Given the description of an element on the screen output the (x, y) to click on. 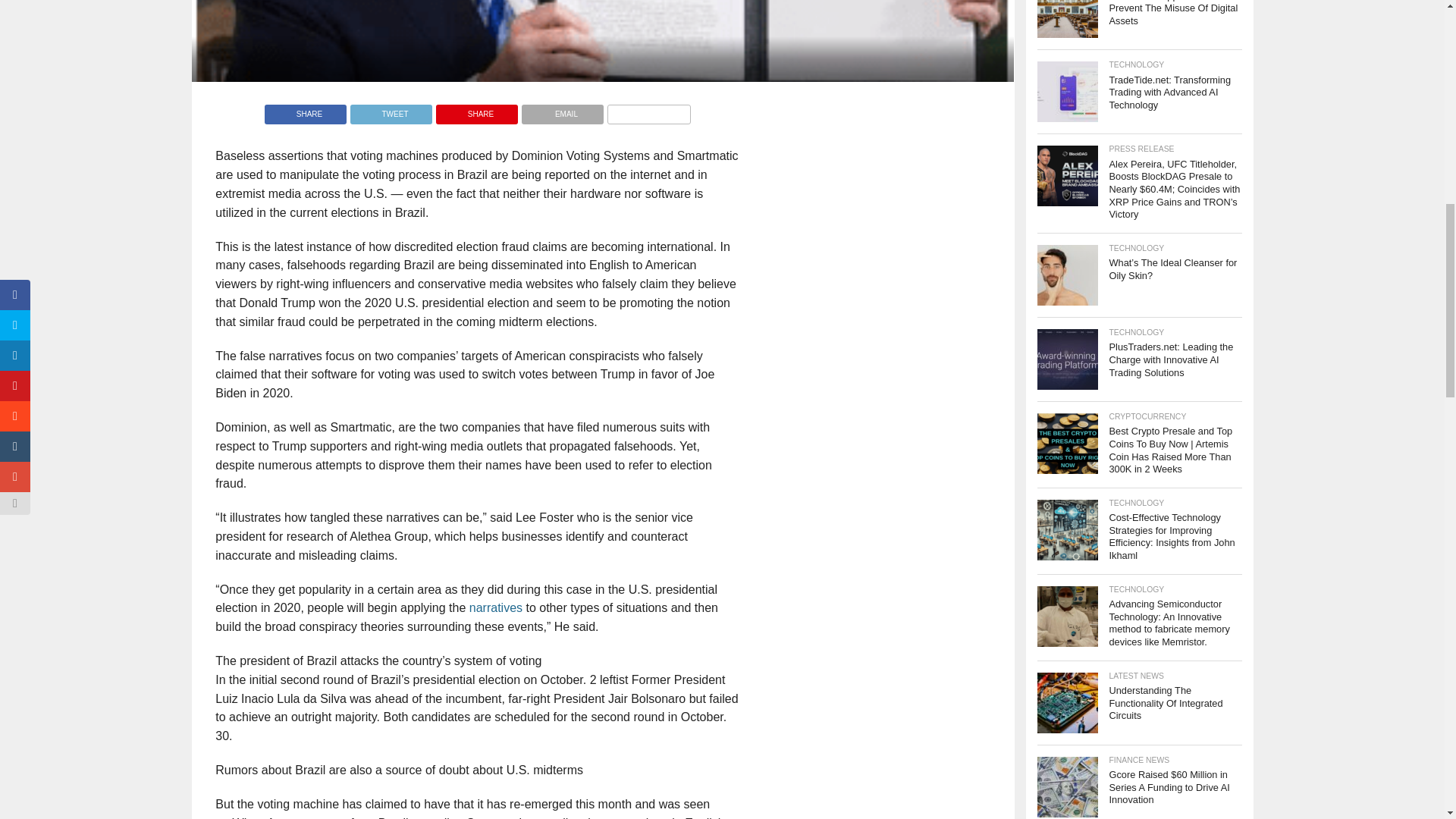
Share on Facebook (305, 110)
Pin This Post (476, 110)
Tweet This Post (390, 110)
